Given the description of an element on the screen output the (x, y) to click on. 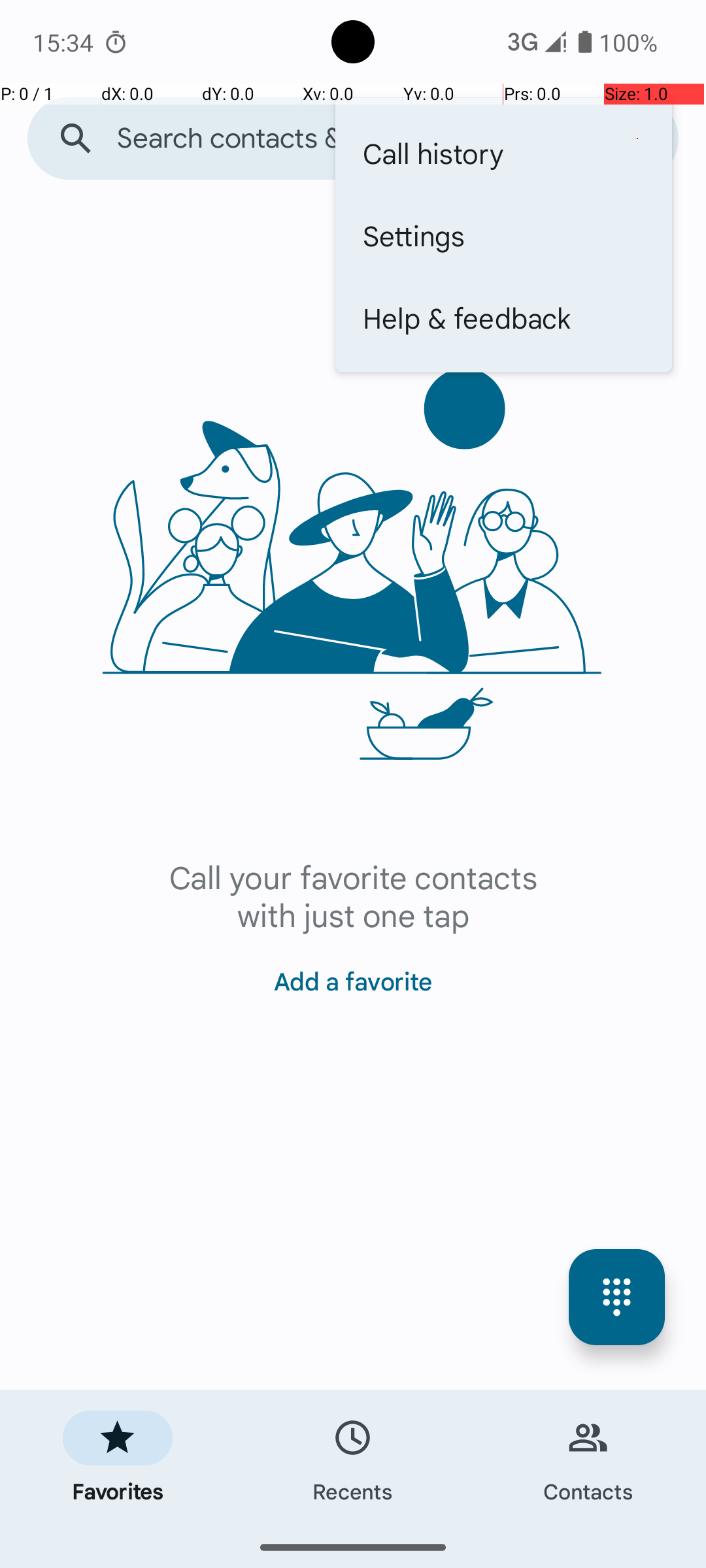
Call history Element type: android.widget.TextView (503, 152)
